Given the description of an element on the screen output the (x, y) to click on. 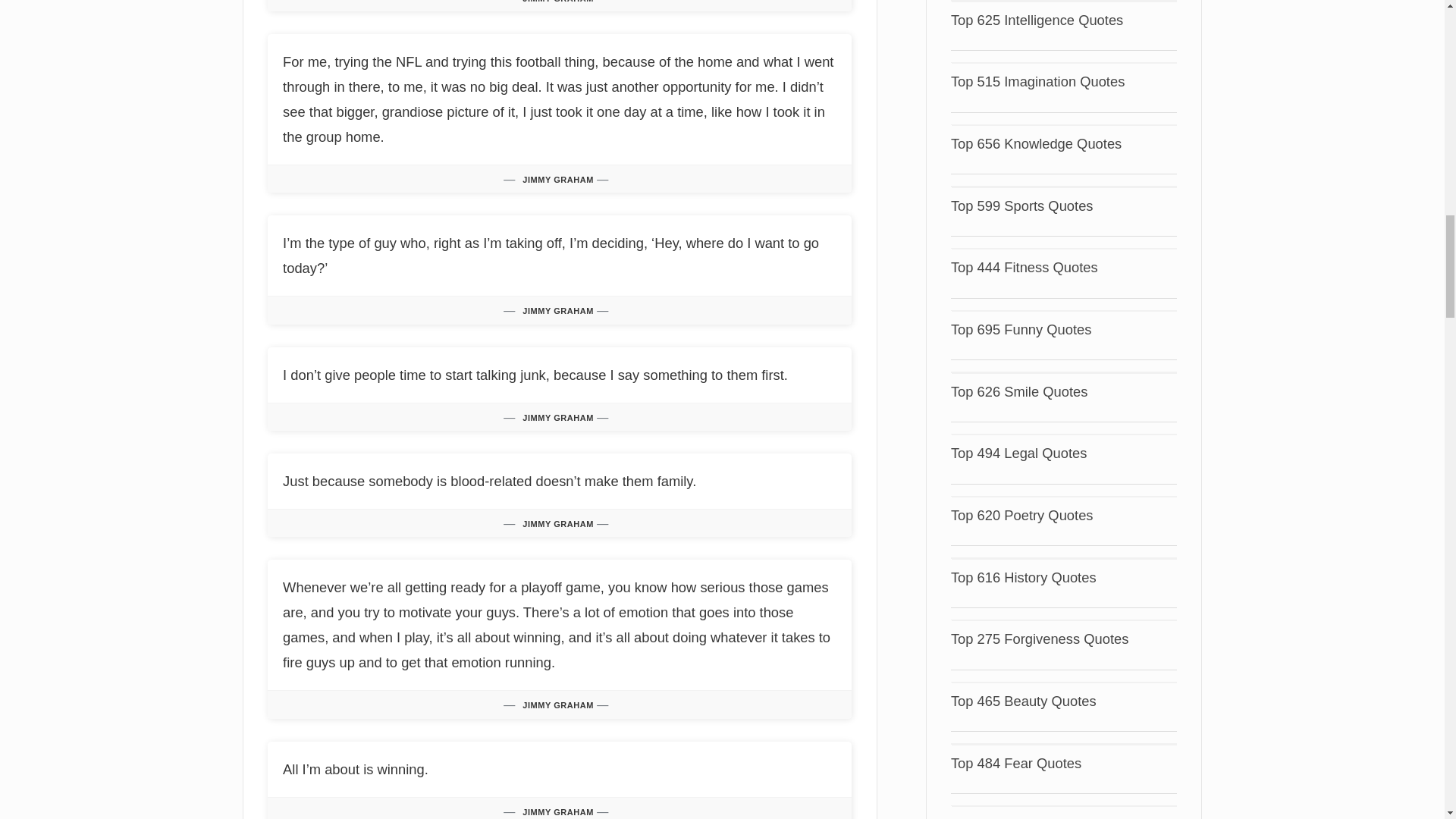
Top 494 Legal Quotes (1018, 453)
Top 656 Knowledge Quotes (1035, 143)
Top 625 Intelligence Quotes (1036, 19)
Top 695 Funny Quotes (1021, 329)
Top 626 Smile Quotes (1018, 391)
Top 656 Knowledge Quotes (1035, 143)
Top 515 Imagination Quotes (1037, 81)
Top 620 Poetry Quotes (1021, 514)
Top 444 Fitness Quotes (1023, 267)
Top 275 Forgiveness Quotes (1039, 638)
Top 599 Sports Quotes (1021, 205)
Top 625 Intelligence Quotes (1036, 19)
Top 515 Imagination Quotes (1037, 81)
Top 616 History Quotes (1023, 577)
